Given the description of an element on the screen output the (x, y) to click on. 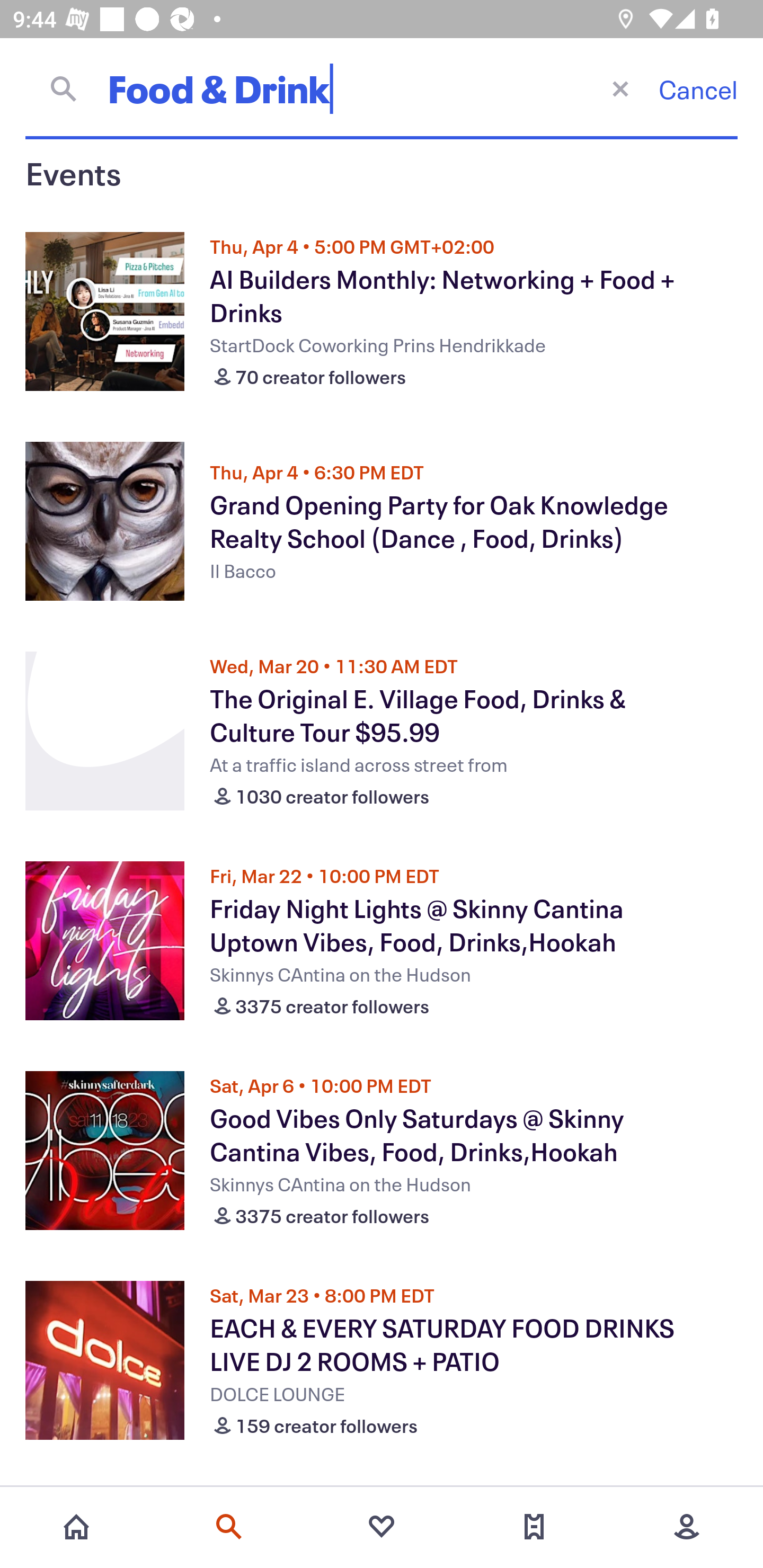
Food & Drink Close current screen Cancel (381, 88)
Close current screen (620, 88)
Cancel (697, 89)
Home (76, 1526)
Search events (228, 1526)
Favorites (381, 1526)
Tickets (533, 1526)
More (686, 1526)
